Given the description of an element on the screen output the (x, y) to click on. 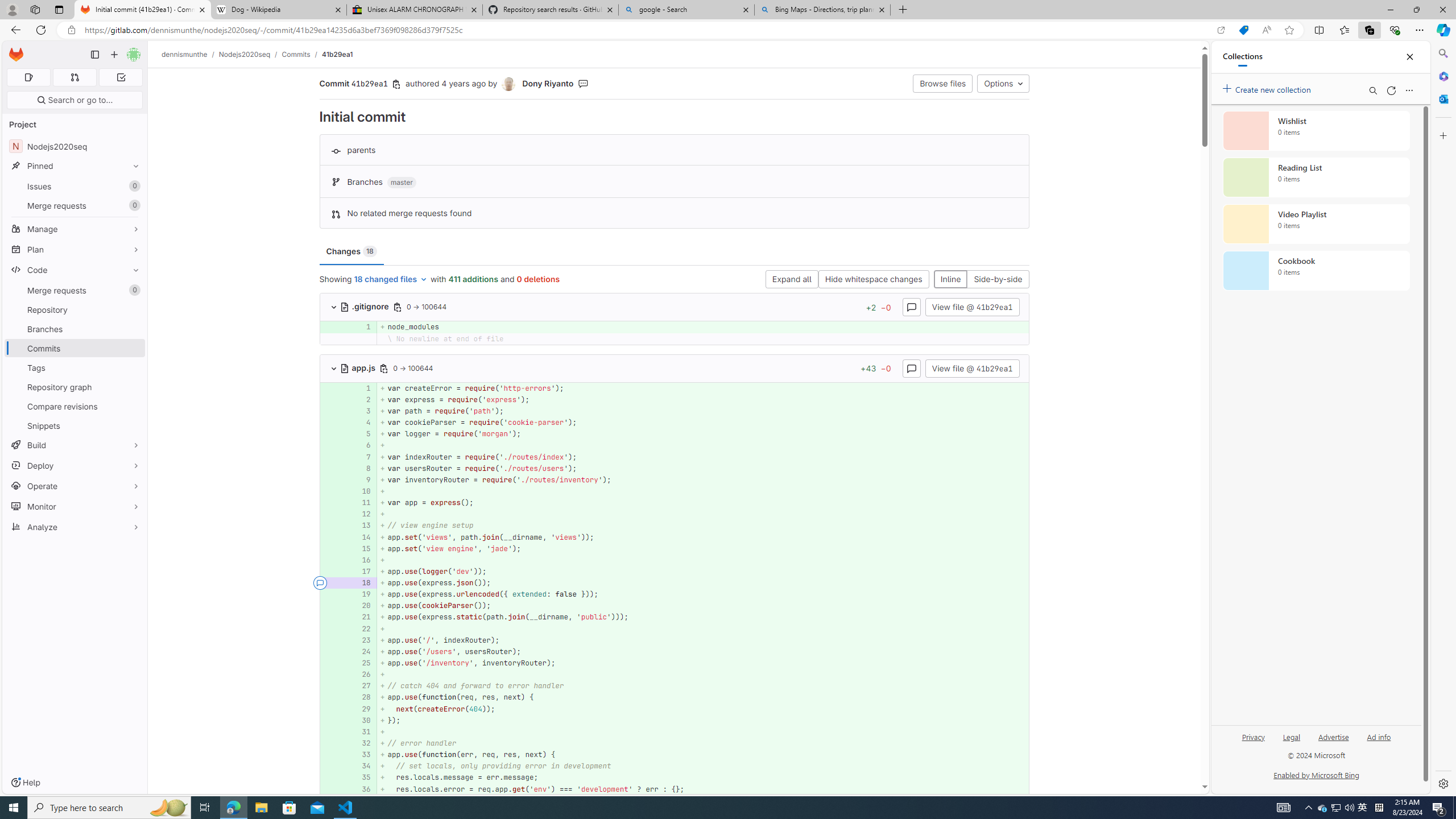
Class: s16 (344, 368)
Merge requests0 (74, 289)
Advertise (1333, 736)
25 (360, 663)
Wishlist collection, 0 items (1316, 130)
1 (360, 387)
+ var inventoryRouter = require('./routes/inventory');  (703, 479)
AutomationID: 4a68969ef8e858229267b842dedf42ab5dde4d50_0_11 (674, 503)
10 (360, 490)
Snippets (74, 425)
26 (360, 674)
34 (362, 766)
Repository graph (74, 386)
Code (74, 269)
